Given the description of an element on the screen output the (x, y) to click on. 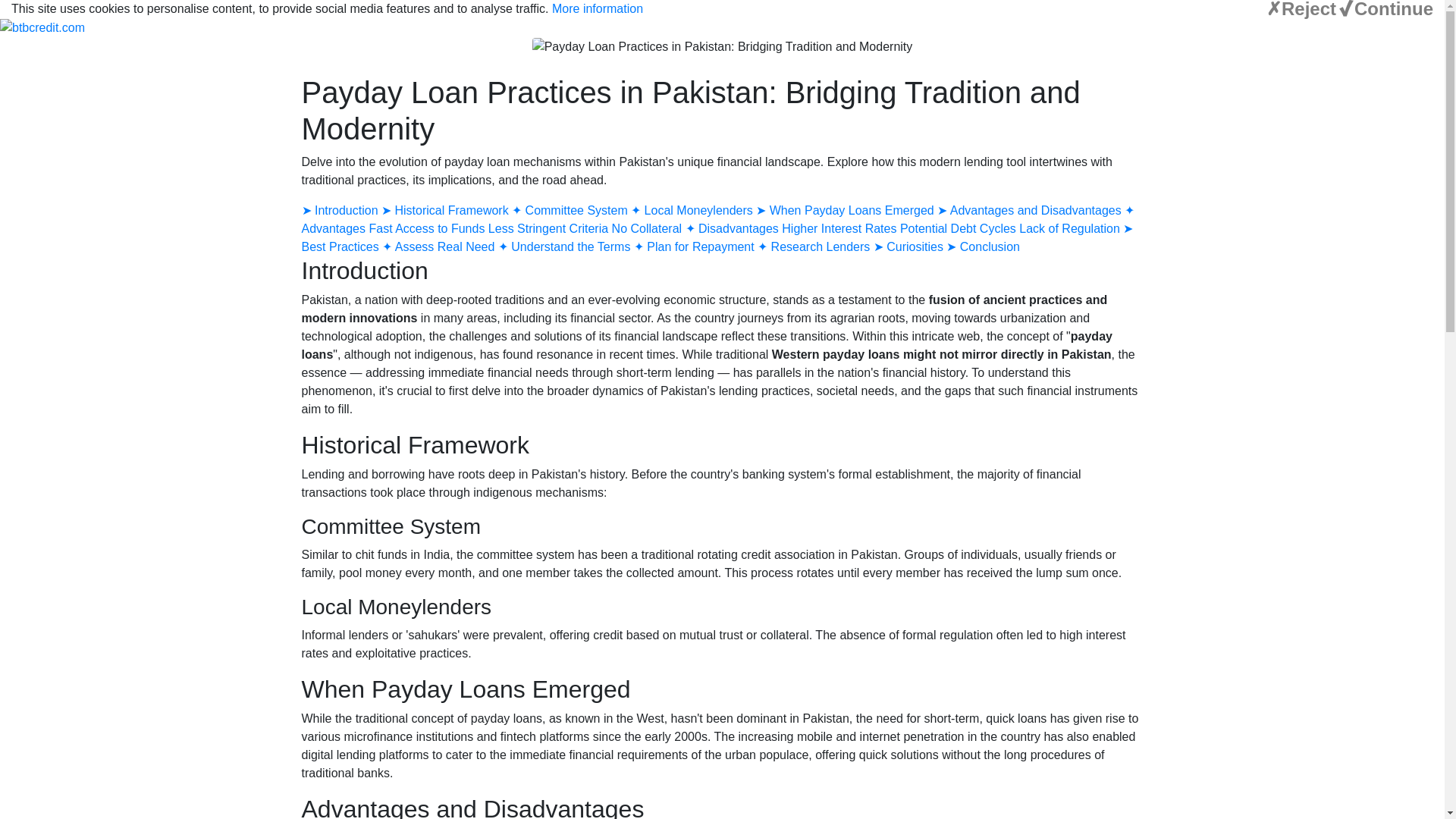
No Collateral (648, 228)
Lack of Regulation (1070, 228)
More information (597, 8)
Fast Access to Funds (426, 228)
Higher Interest Rates (838, 228)
Less Stringent Criteria (549, 228)
Potential Debt Cycles (959, 228)
